Given the description of an element on the screen output the (x, y) to click on. 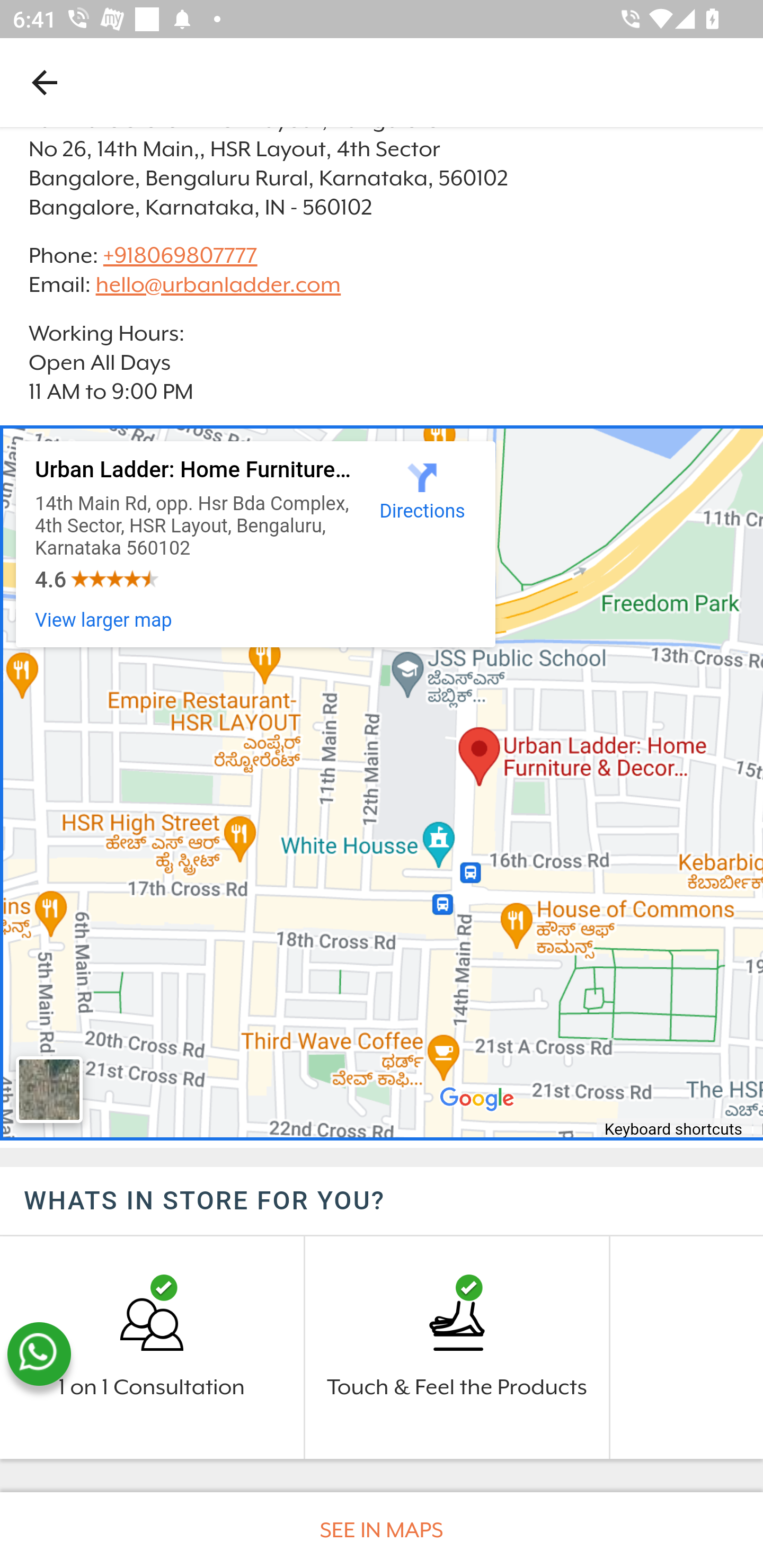
Navigate up (44, 82)
+918069807777 (179, 254)
hello@urbanladder.com (218, 285)
View larger map (104, 619)
Show satellite imagery (49, 1090)
Keyboard shortcuts (673, 1131)
whatsapp (38, 1353)
SEE IN MAPS (381, 1530)
